Given the description of an element on the screen output the (x, y) to click on. 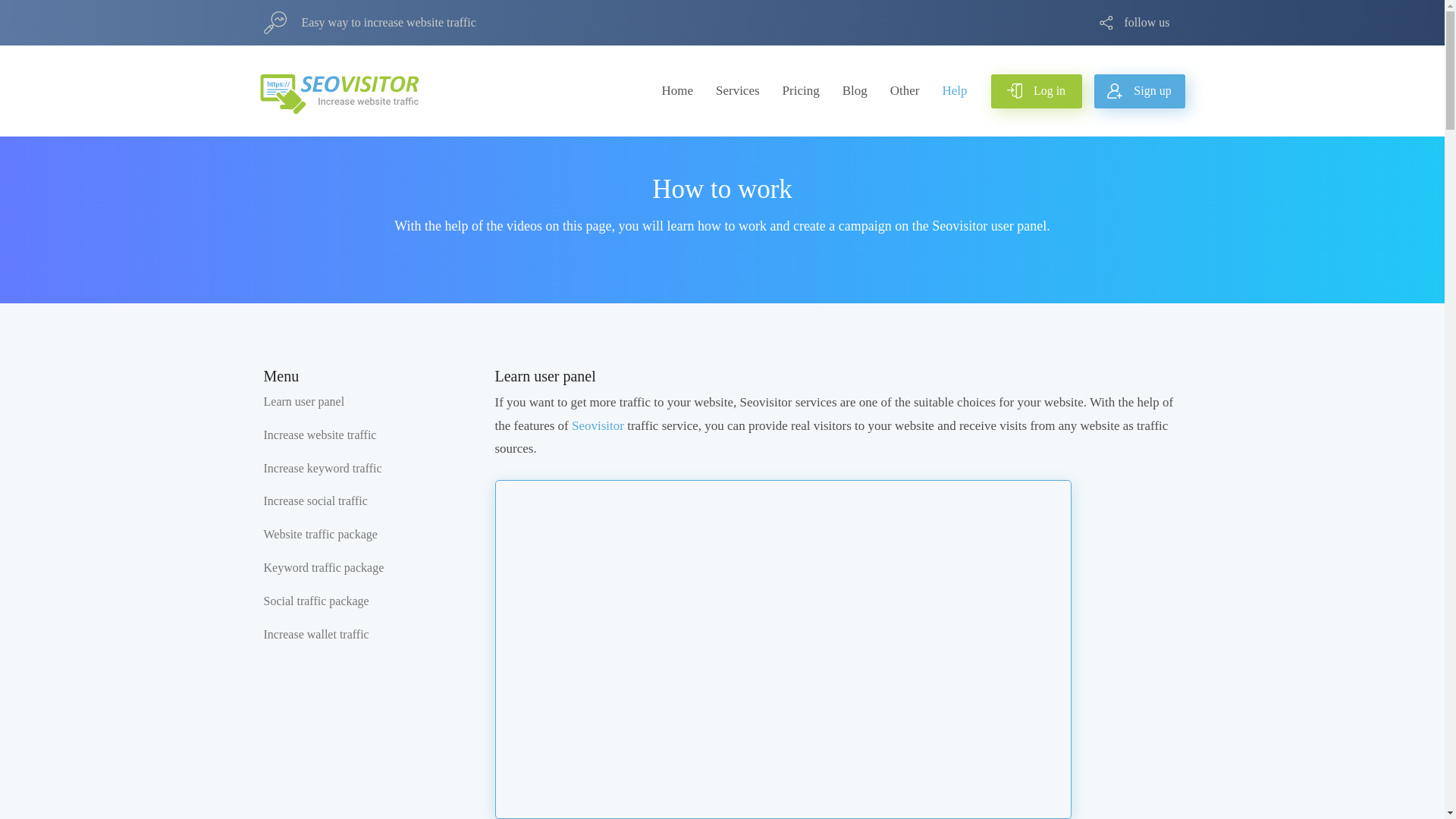
Pricing (801, 91)
Increase social traffic (315, 501)
Home (677, 91)
Website traffic package (320, 535)
Increase website traffic (320, 435)
Log in (1035, 91)
Keyword traffic package (323, 568)
Learn user panel (304, 402)
Seovisitor (598, 425)
